Given the description of an element on the screen output the (x, y) to click on. 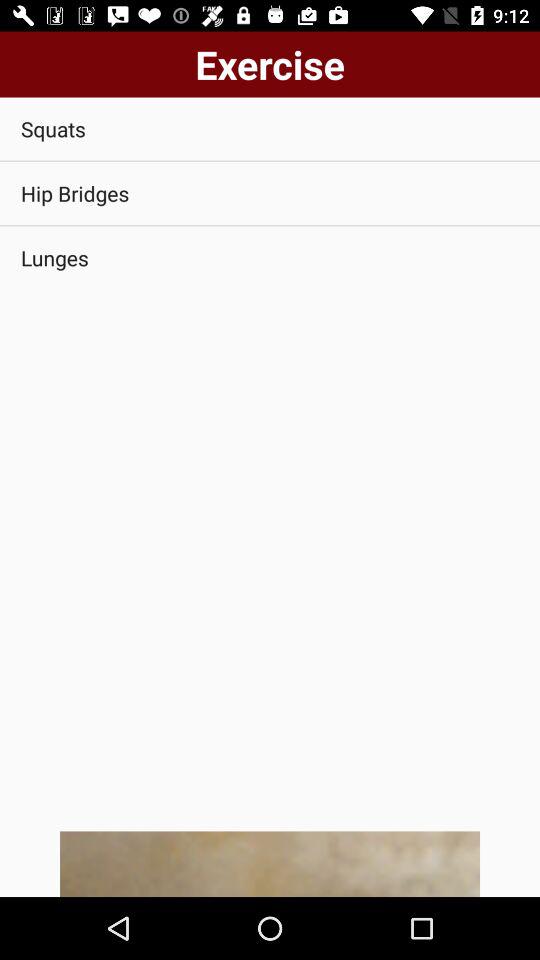
choose item below hip bridges item (270, 257)
